Given the description of an element on the screen output the (x, y) to click on. 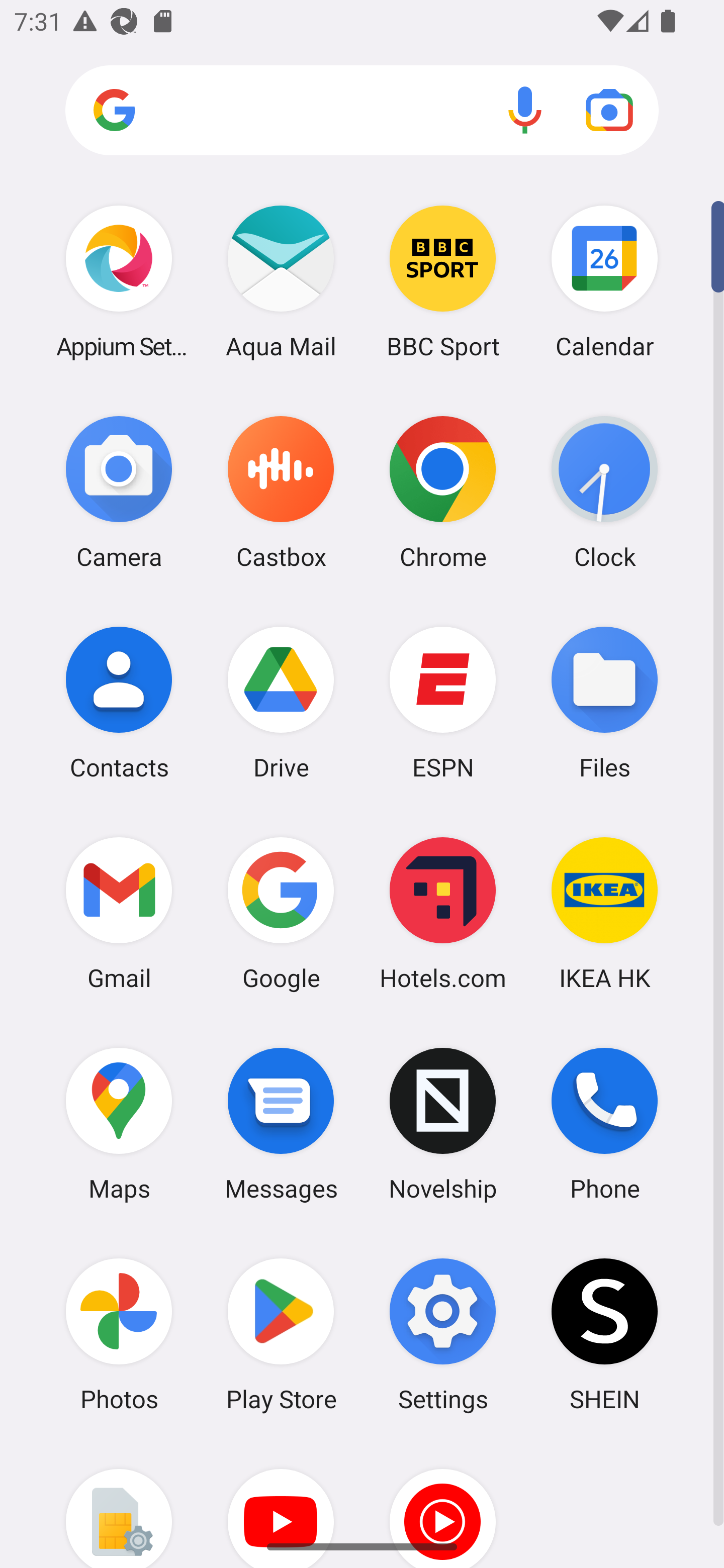
Search apps, web and more (361, 110)
Voice search (524, 109)
Google Lens (608, 109)
Appium Settings (118, 281)
Aqua Mail (280, 281)
BBC Sport (443, 281)
Calendar (604, 281)
Camera (118, 492)
Castbox (280, 492)
Chrome (443, 492)
Clock (604, 492)
Contacts (118, 702)
Drive (280, 702)
ESPN (443, 702)
Files (604, 702)
Gmail (118, 913)
Google (280, 913)
Hotels.com (443, 913)
IKEA HK (604, 913)
Maps (118, 1124)
Messages (280, 1124)
Novelship (443, 1124)
Phone (604, 1124)
Photos (118, 1334)
Play Store (280, 1334)
Settings (443, 1334)
SHEIN (604, 1334)
TMoble (118, 1503)
YouTube (280, 1503)
YT Music (443, 1503)
